Given the description of an element on the screen output the (x, y) to click on. 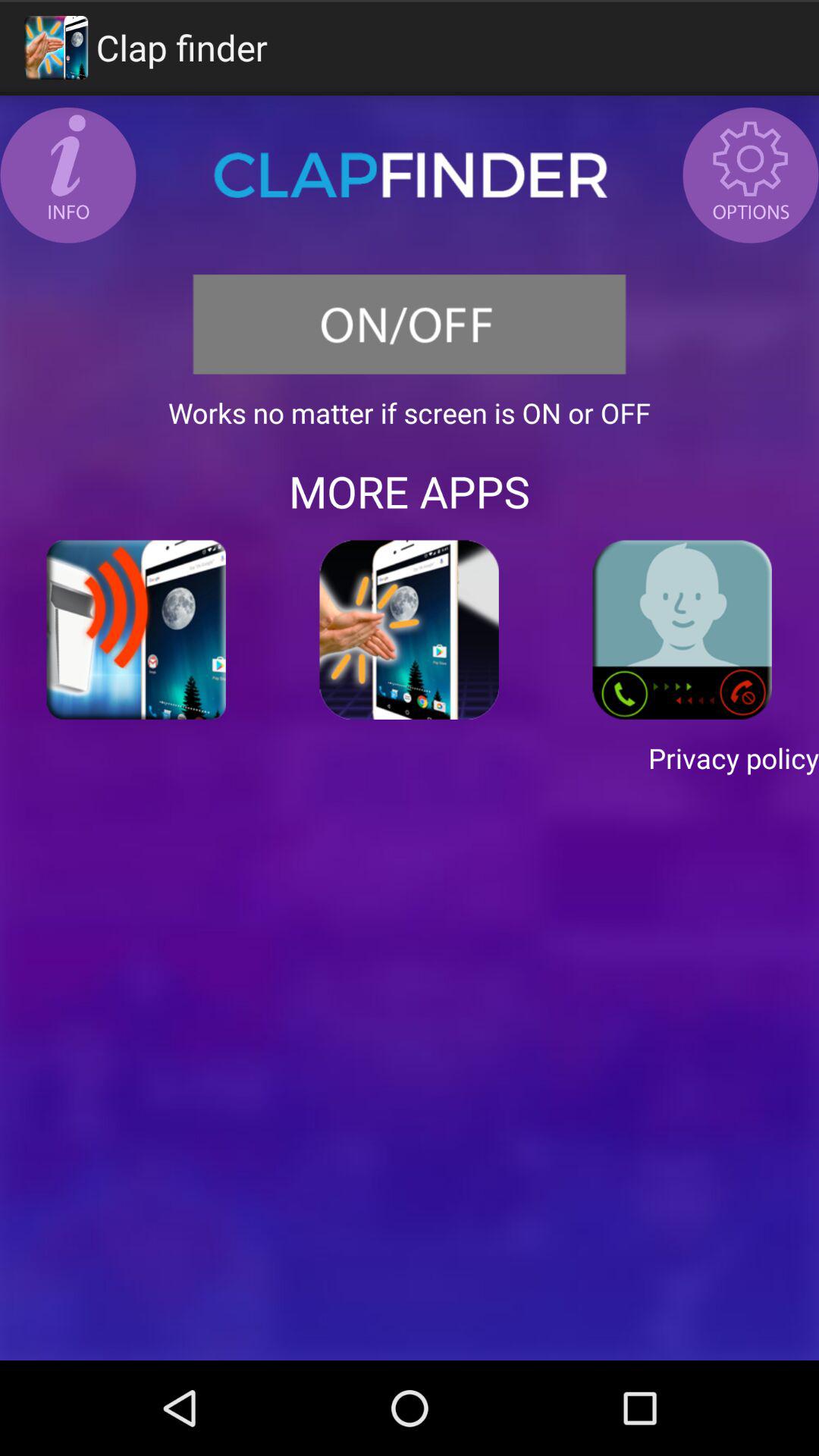
open new app (136, 629)
